Given the description of an element on the screen output the (x, y) to click on. 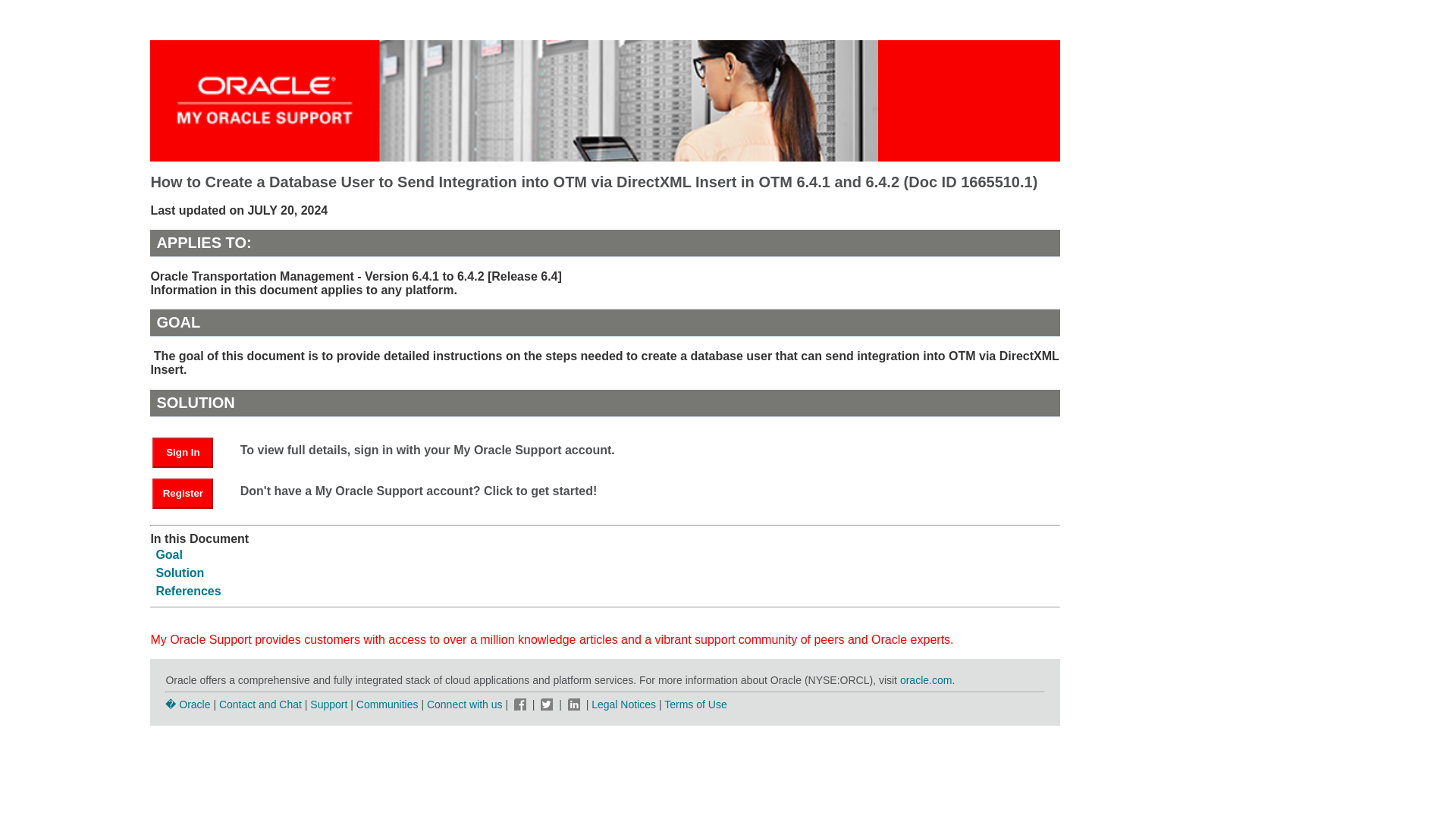
Contact and Chat (260, 704)
Legal Notices (623, 704)
Sign In (182, 452)
oracle.com (925, 680)
Communities (387, 704)
Register (190, 492)
oracle.com (925, 680)
Register (182, 493)
Solution (179, 572)
Goal (169, 554)
Connect with us (465, 704)
Sign In (190, 451)
References (188, 590)
Support (328, 704)
Terms of Use (694, 704)
